Given the description of an element on the screen output the (x, y) to click on. 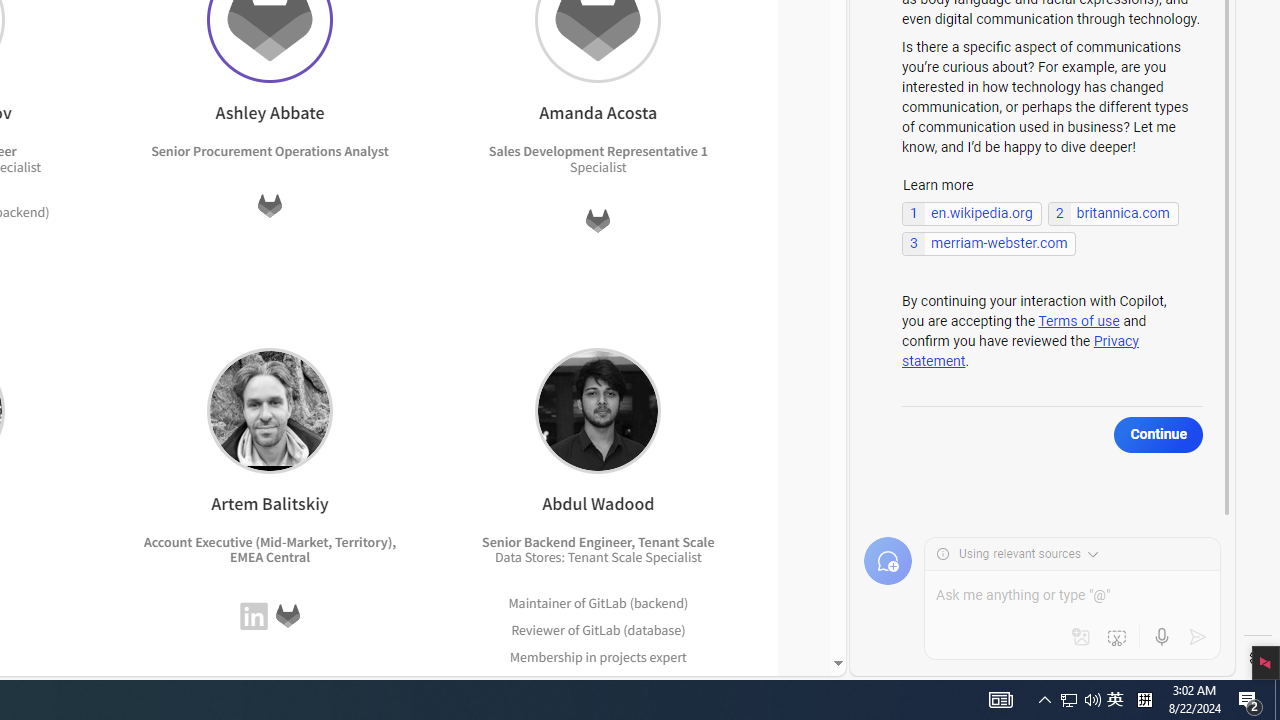
Sales Development Representative 1 (597, 151)
Artem Balitskiy (269, 409)
Maintainer of GitLab (backend) (598, 601)
GitLab (287, 616)
Maintainer (540, 602)
